Given the description of an element on the screen output the (x, y) to click on. 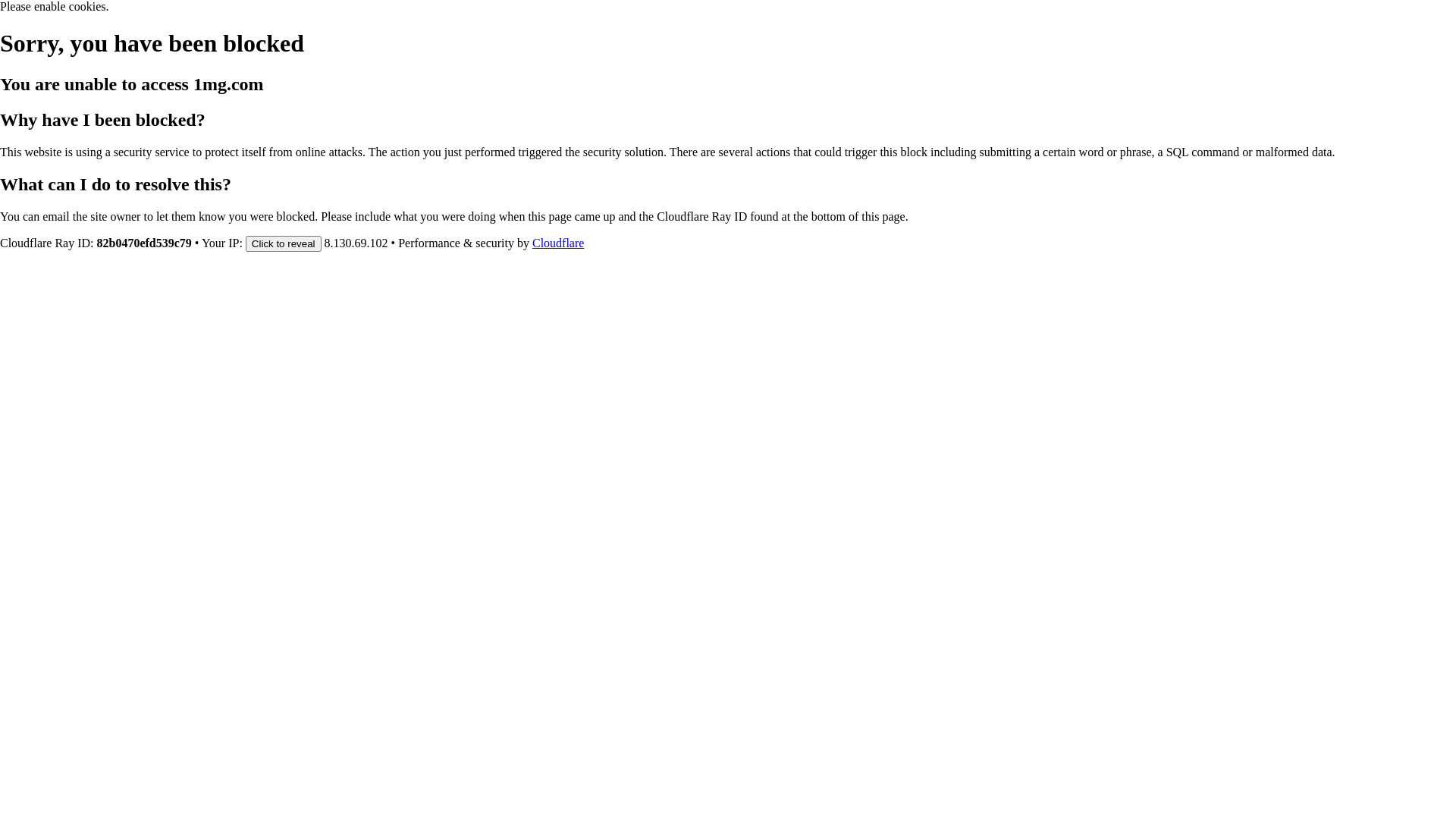
Cloudflare Element type: text (557, 242)
Click to reveal Element type: text (283, 243)
